Given the description of an element on the screen output the (x, y) to click on. 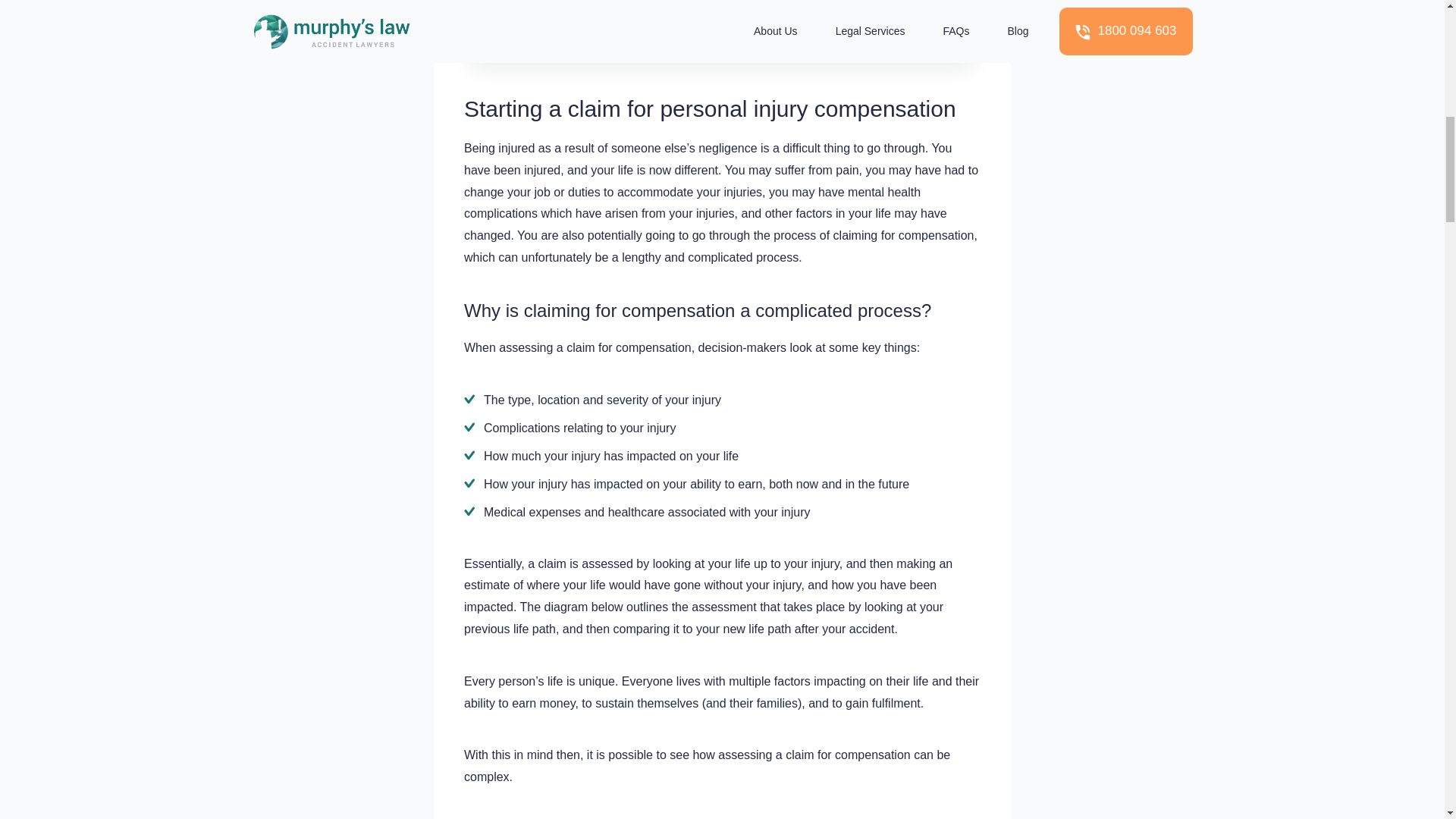
1800 094 603 (786, 4)
Start Claims Check (585, 4)
